Given the description of an element on the screen output the (x, y) to click on. 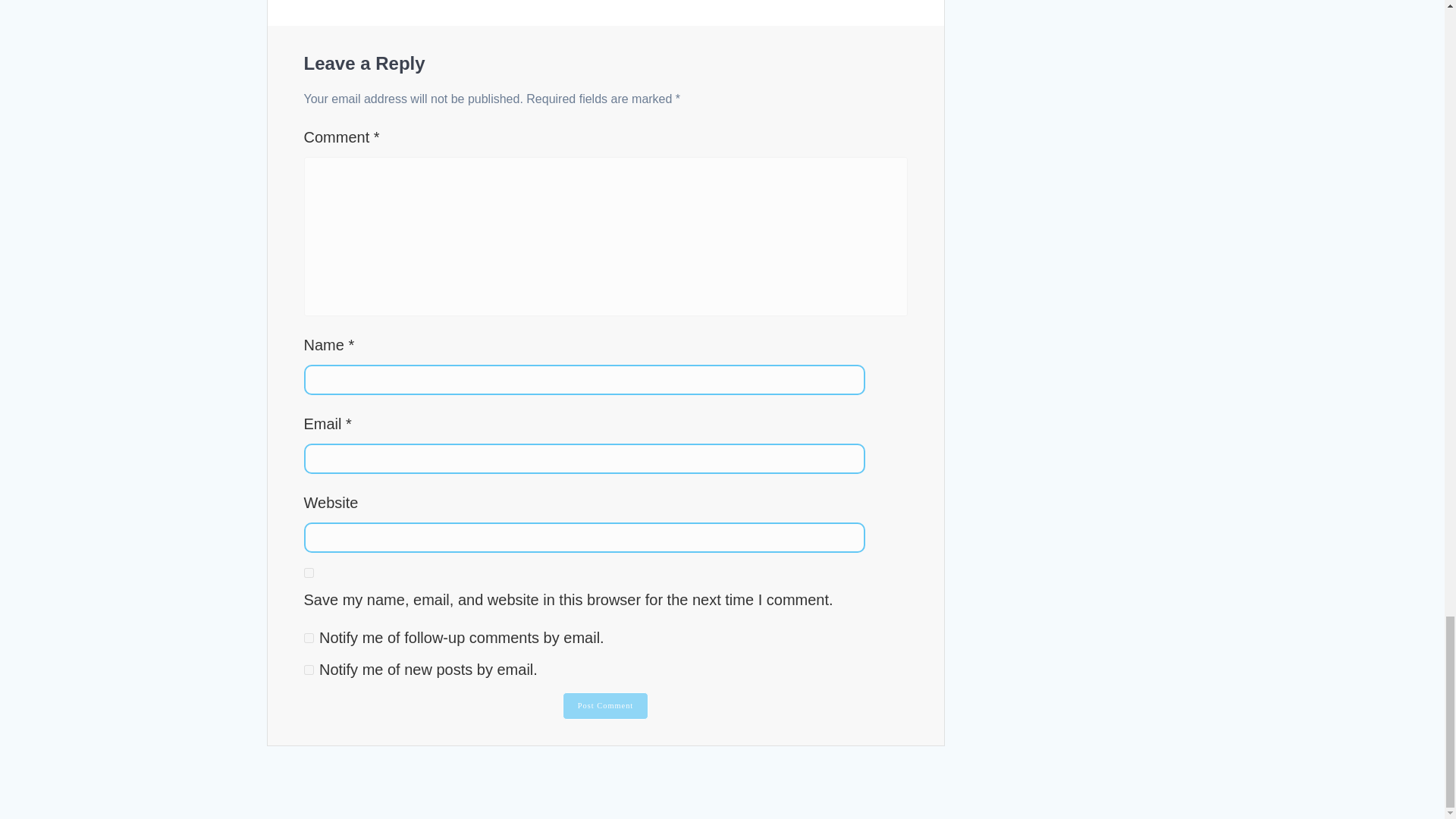
subscribe (307, 669)
Post Comment (605, 705)
yes (307, 573)
subscribe (307, 637)
